Given the description of an element on the screen output the (x, y) to click on. 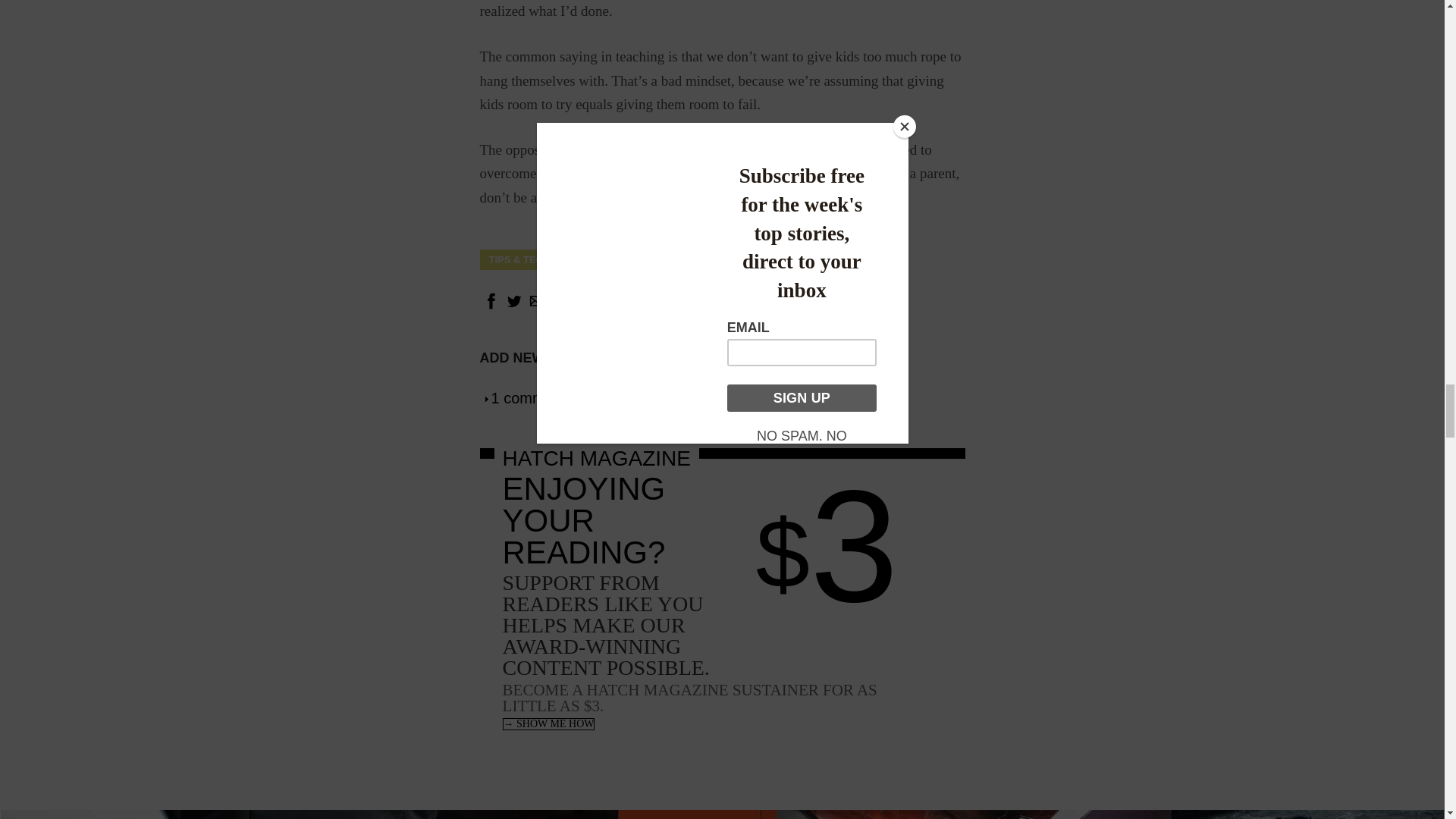
GUIDES (529, 397)
Twitter (749, 259)
TROUT (513, 307)
Email (810, 259)
YOUTH FLY FISHING (535, 307)
ADD NEW COMMENT (655, 259)
Facebook (548, 357)
Share your thoughts and opinions related to this posting. (490, 307)
